Given the description of an element on the screen output the (x, y) to click on. 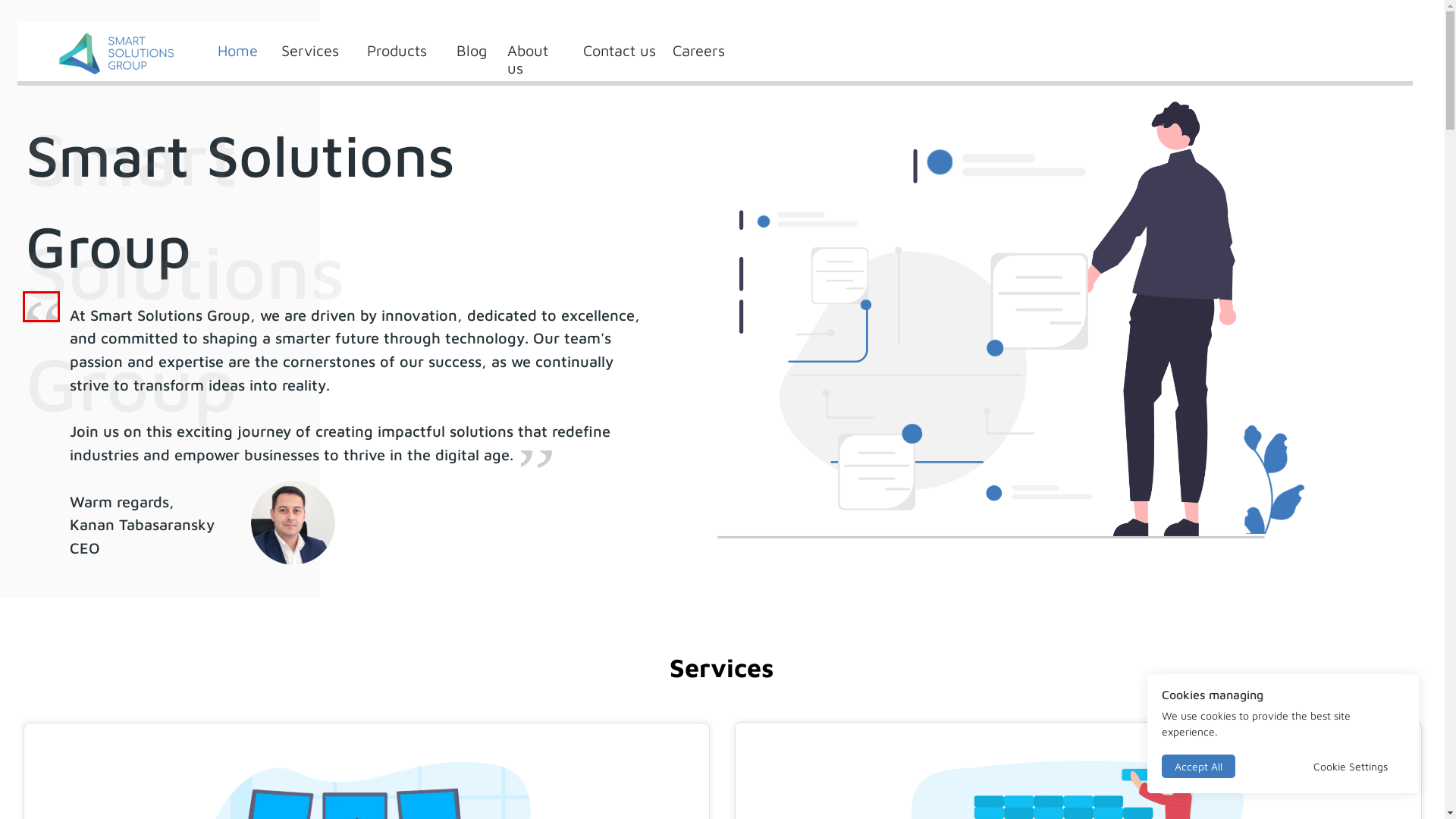
About us Element type: text (526, 58)
Careers Element type: text (697, 50)
Blog Element type: text (471, 50)
Home Element type: text (237, 50)
Cookie Settings Element type: text (1350, 766)
Services Element type: text (309, 50)
Accept All Element type: text (1198, 766)
Products Element type: text (396, 50)
Contact us Element type: text (618, 50)
